Given the description of an element on the screen output the (x, y) to click on. 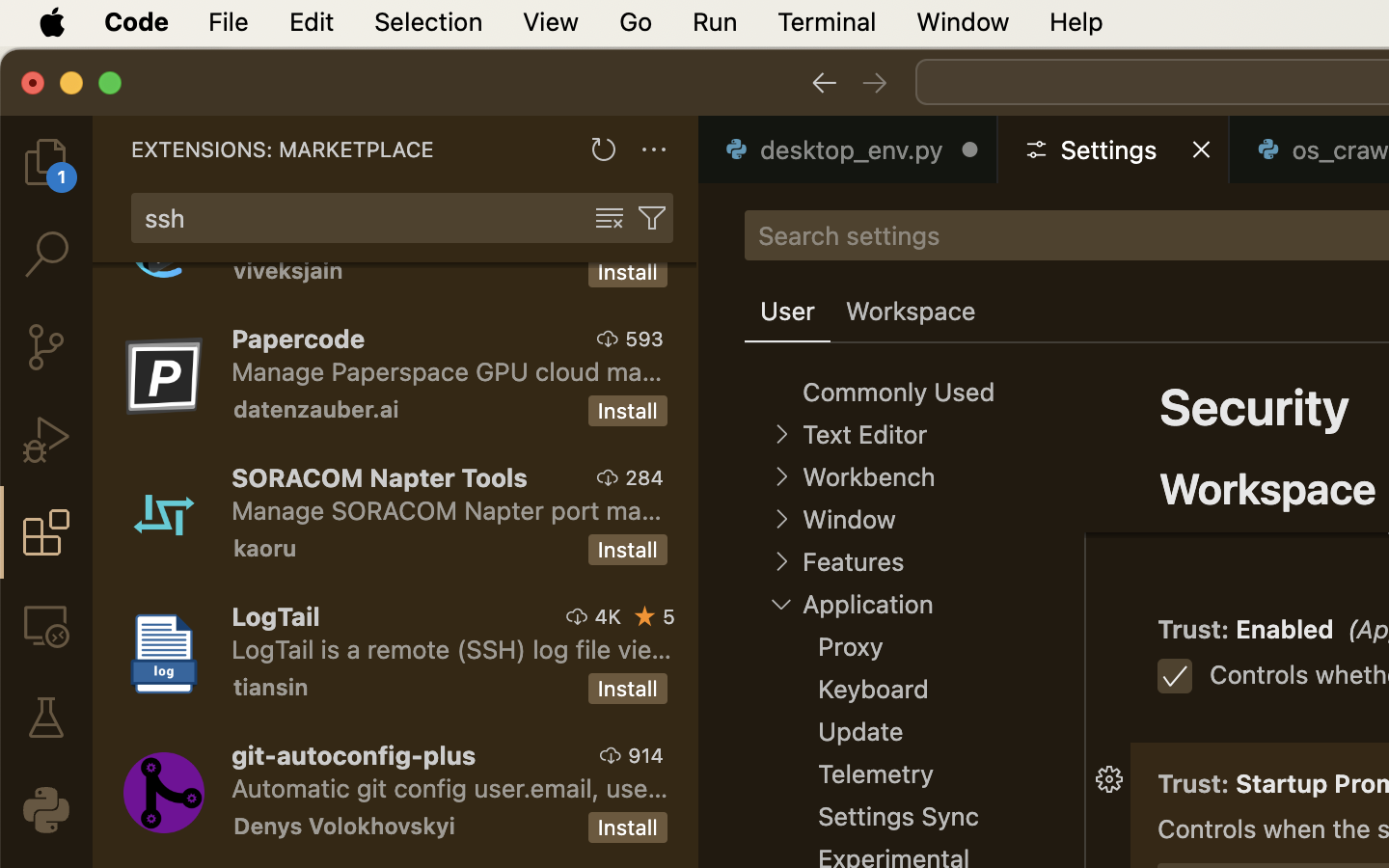
Workspace Element type: AXStaticText (1268, 487)
914 Element type: AXStaticText (645, 754)
 Element type: AXButton (824, 82)
tiansin Element type: AXStaticText (270, 686)
Features Element type: AXStaticText (853, 561)
